Given the description of an element on the screen output the (x, y) to click on. 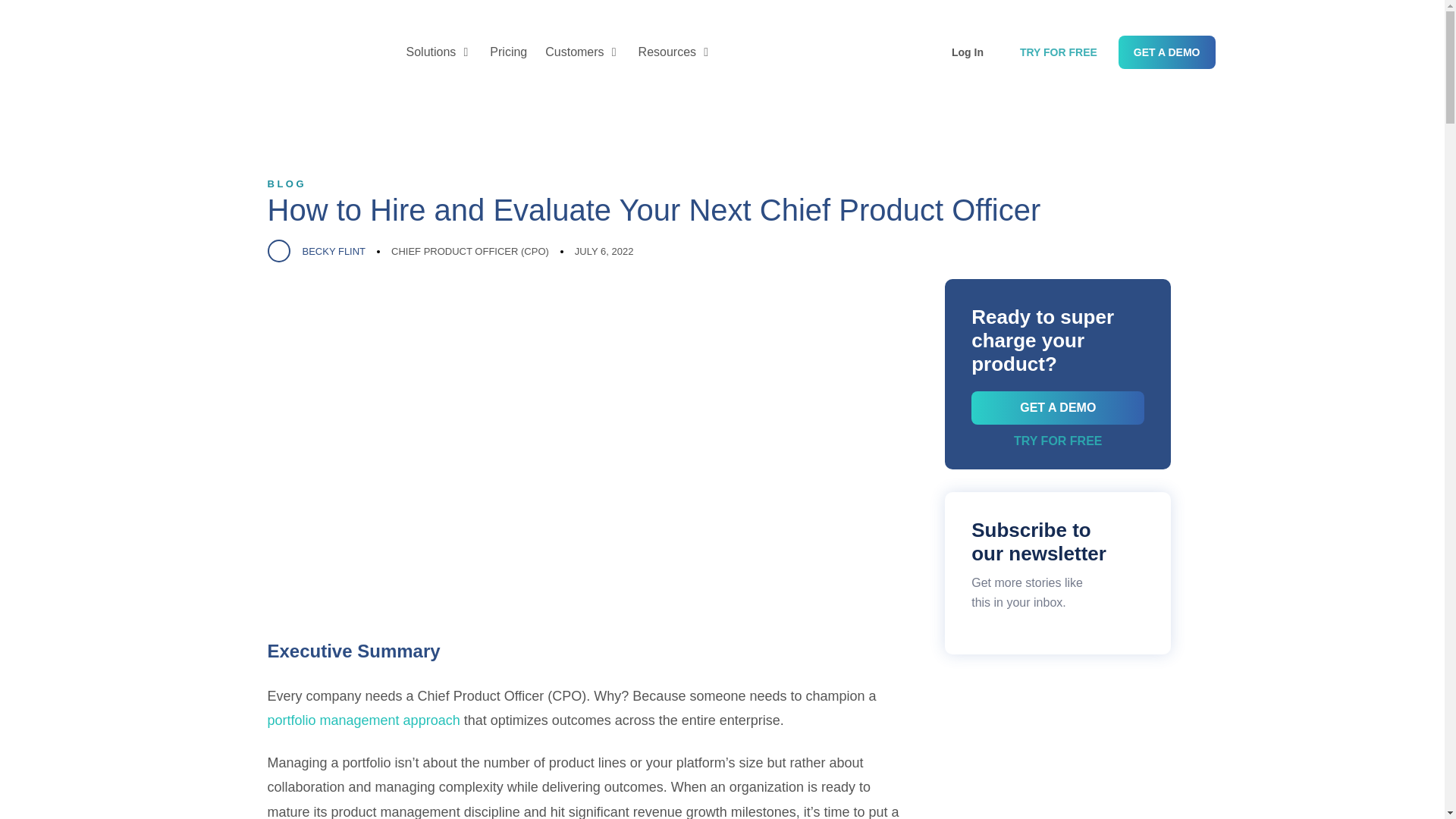
TRY FOR FREE (1058, 52)
Log In (975, 52)
Pricing (508, 52)
Dragonboat (306, 52)
